Given the description of an element on the screen output the (x, y) to click on. 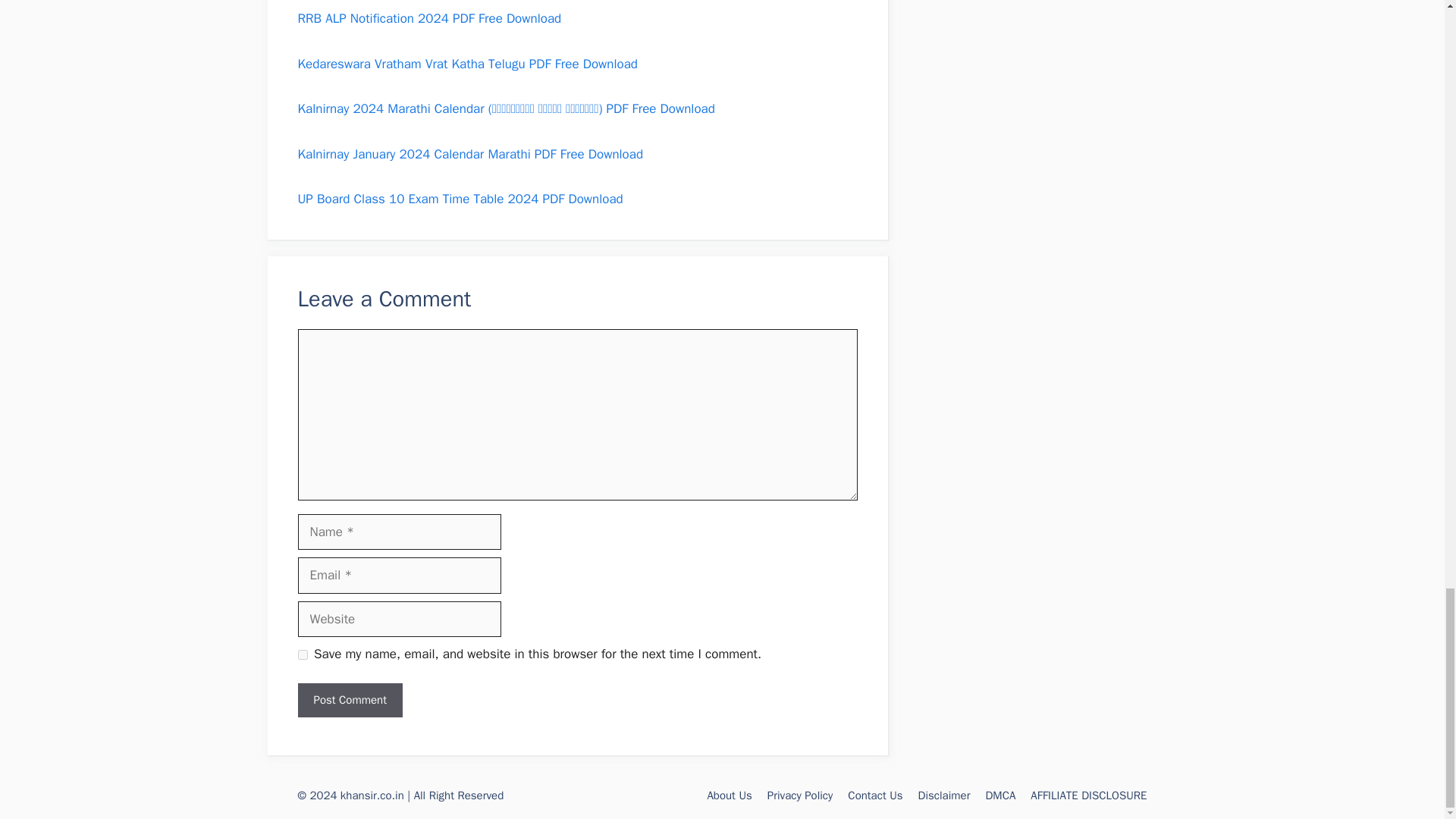
RRB ALP Notification 2024 PDF Free Download (428, 18)
yes (302, 655)
Kalnirnay January 2024 Calendar Marathi PDF Free Download (470, 153)
Kedareswara Vratham Vrat Katha Telugu PDF Free Download (467, 64)
UP Board Class 10 Exam Time Table 2024 PDF Download (460, 198)
Post Comment (349, 700)
Post Comment (349, 700)
